Given the description of an element on the screen output the (x, y) to click on. 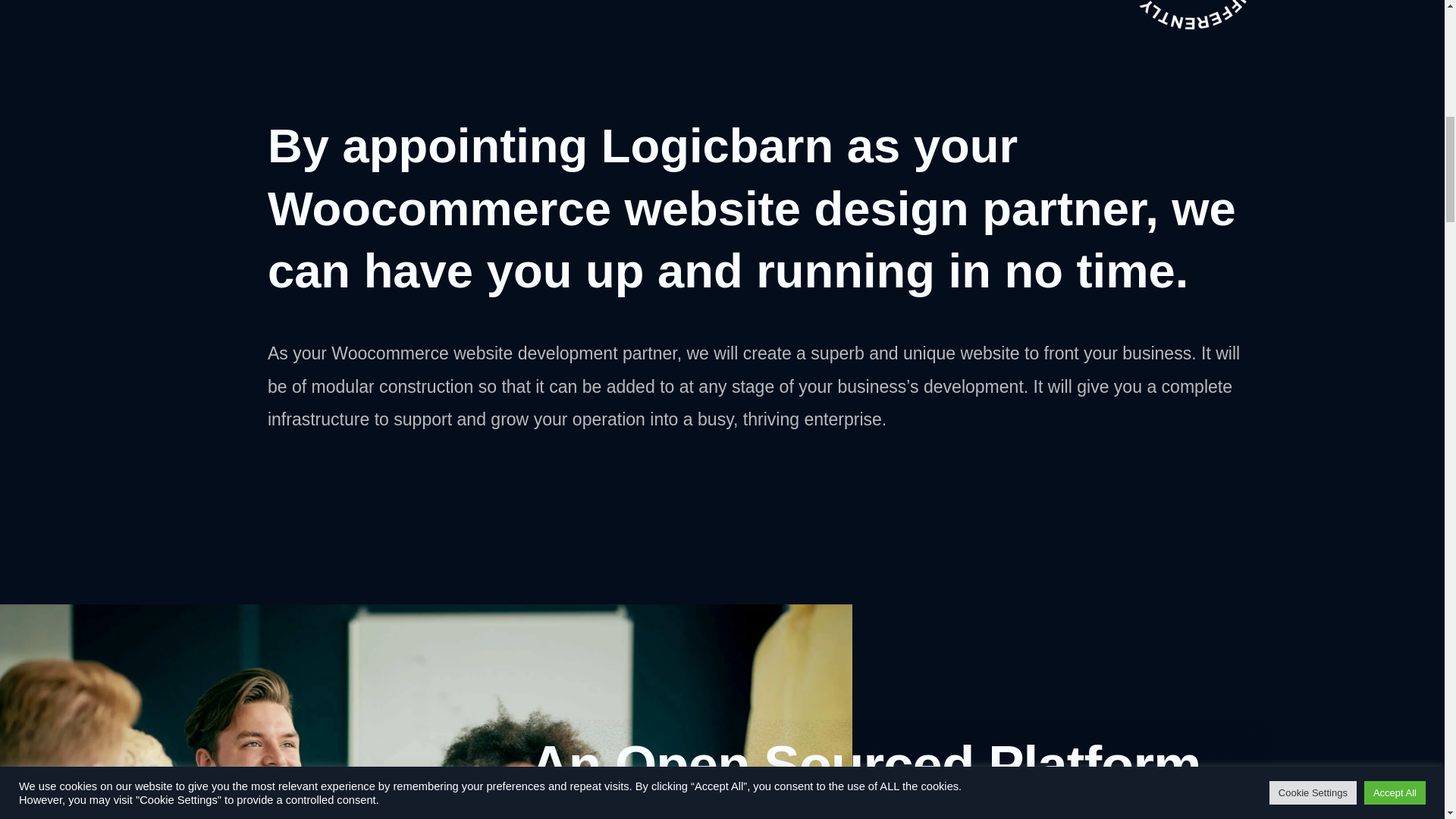
WooCommerce E-Commerce Design 3 (1164, 3)
